Given the description of an element on the screen output the (x, y) to click on. 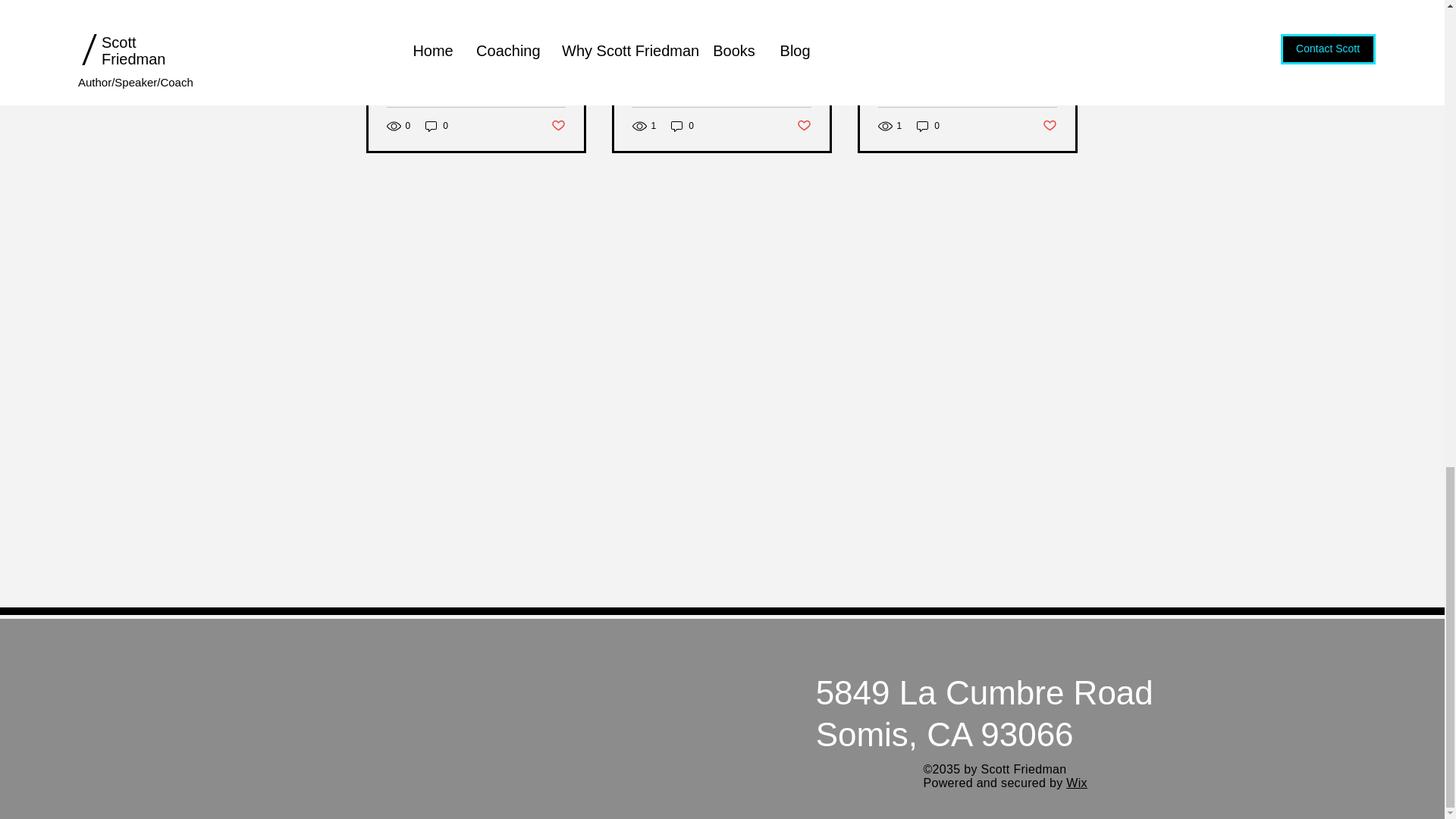
Post not marked as liked (803, 125)
0 (682, 125)
0 (927, 125)
Wix (1076, 782)
Post not marked as liked (557, 125)
0 (436, 125)
Post not marked as liked (1049, 125)
